Given the description of an element on the screen output the (x, y) to click on. 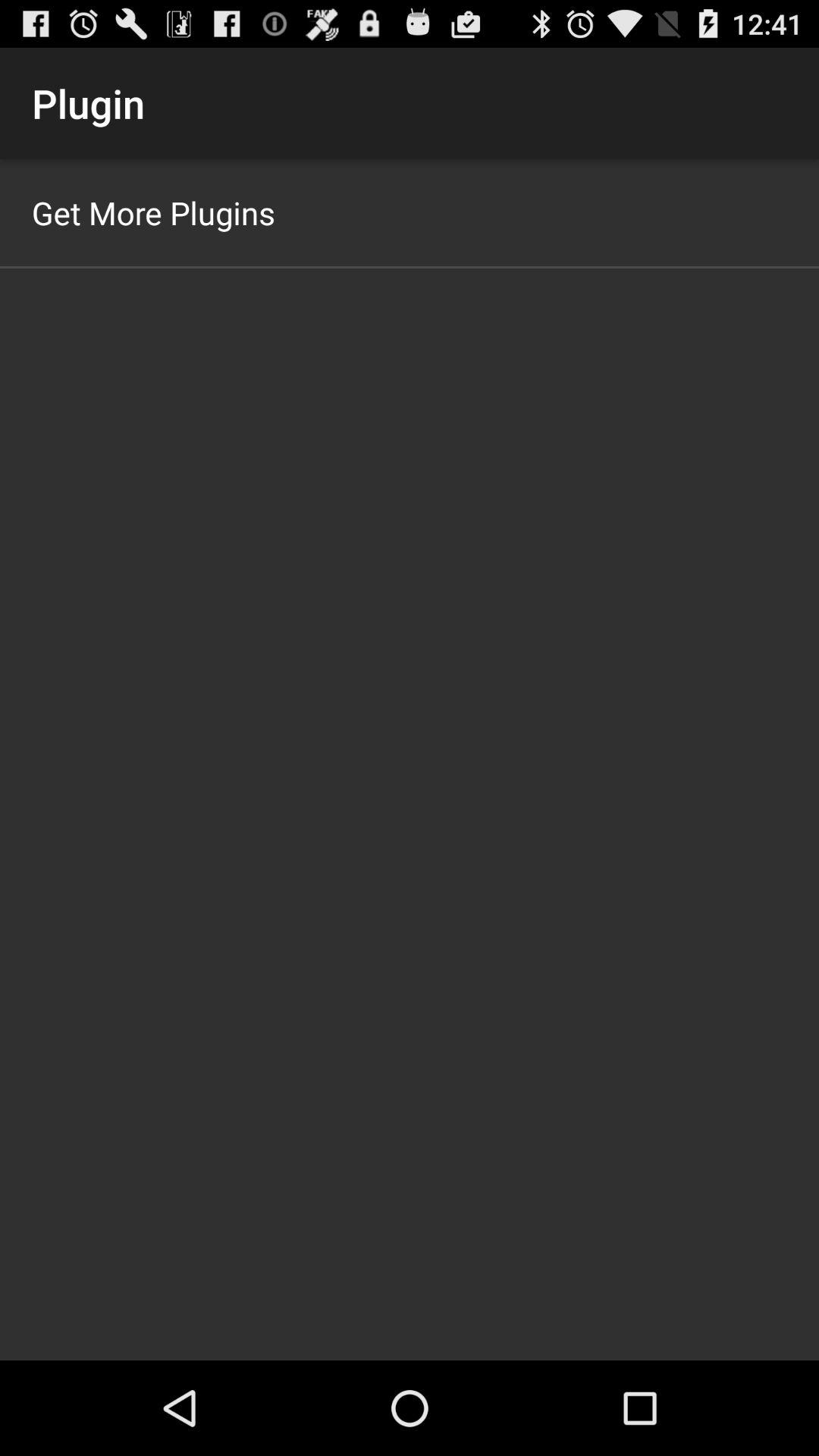
press get more plugins item (153, 212)
